Given the description of an element on the screen output the (x, y) to click on. 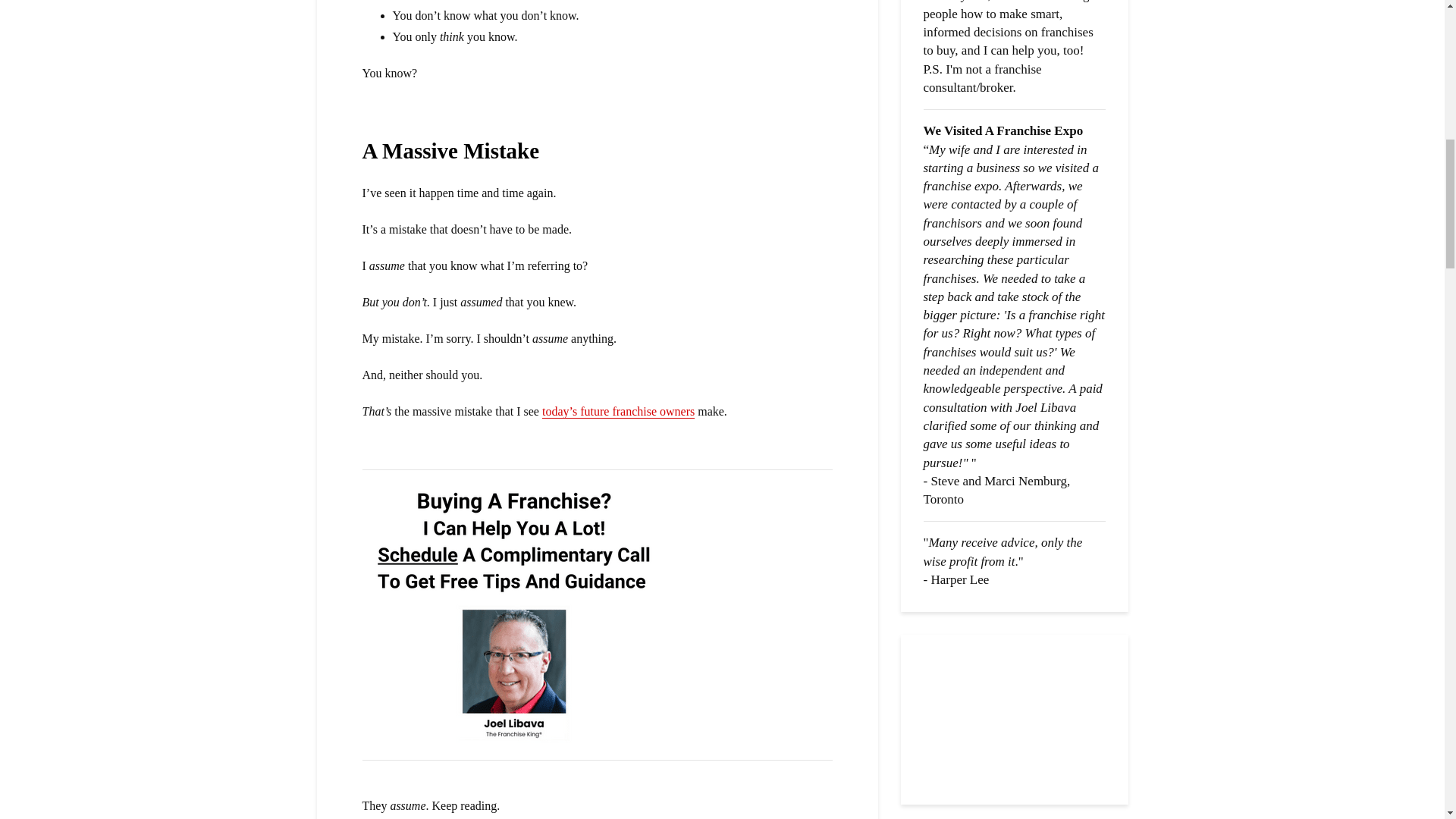
future franchise owners (617, 411)
